Given the description of an element on the screen output the (x, y) to click on. 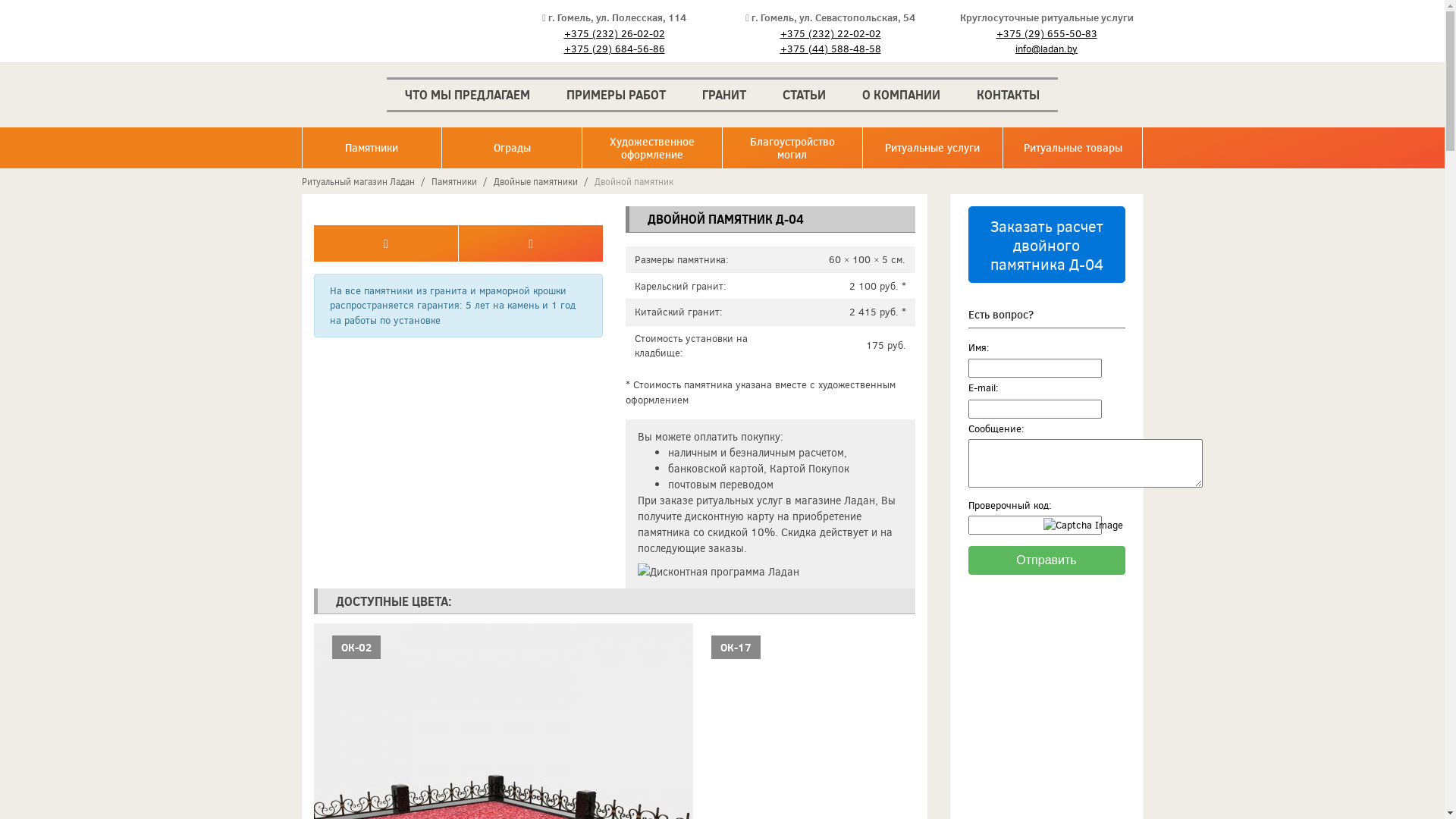
+375 (232) 22-02-02 Element type: text (830, 33)
+375 (29) 684-56-86 Element type: text (613, 48)
+375 (44) 588-48-58 Element type: text (830, 48)
info@ladan.by Element type: text (1045, 48)
+375 (232) 26-02-02 Element type: text (613, 33)
+375 (29) 655-50-83 Element type: text (1045, 33)
